Given the description of an element on the screen output the (x, y) to click on. 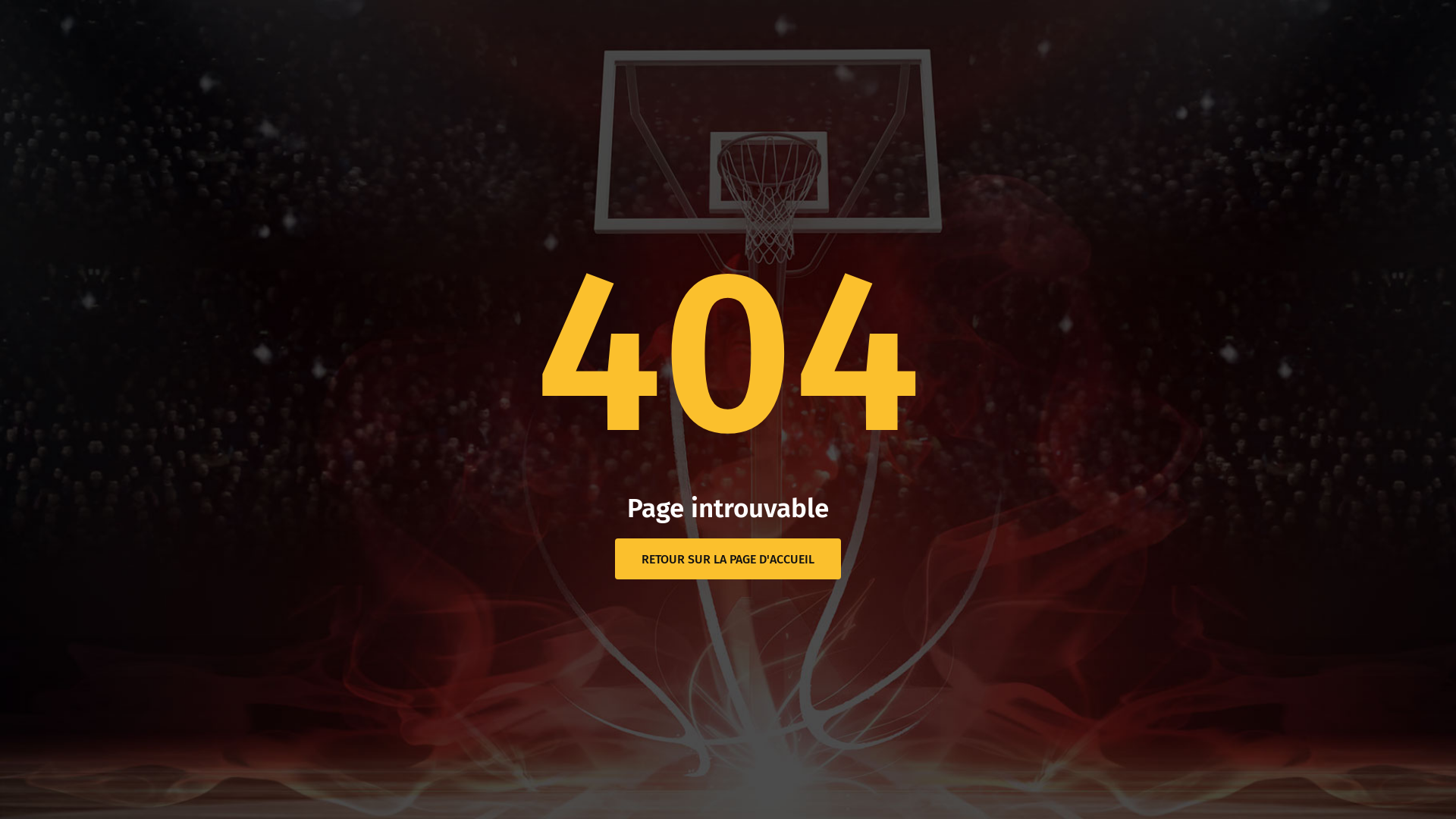
RETOUR SUR LA PAGE D'ACCUEIL Element type: text (727, 558)
